Given the description of an element on the screen output the (x, y) to click on. 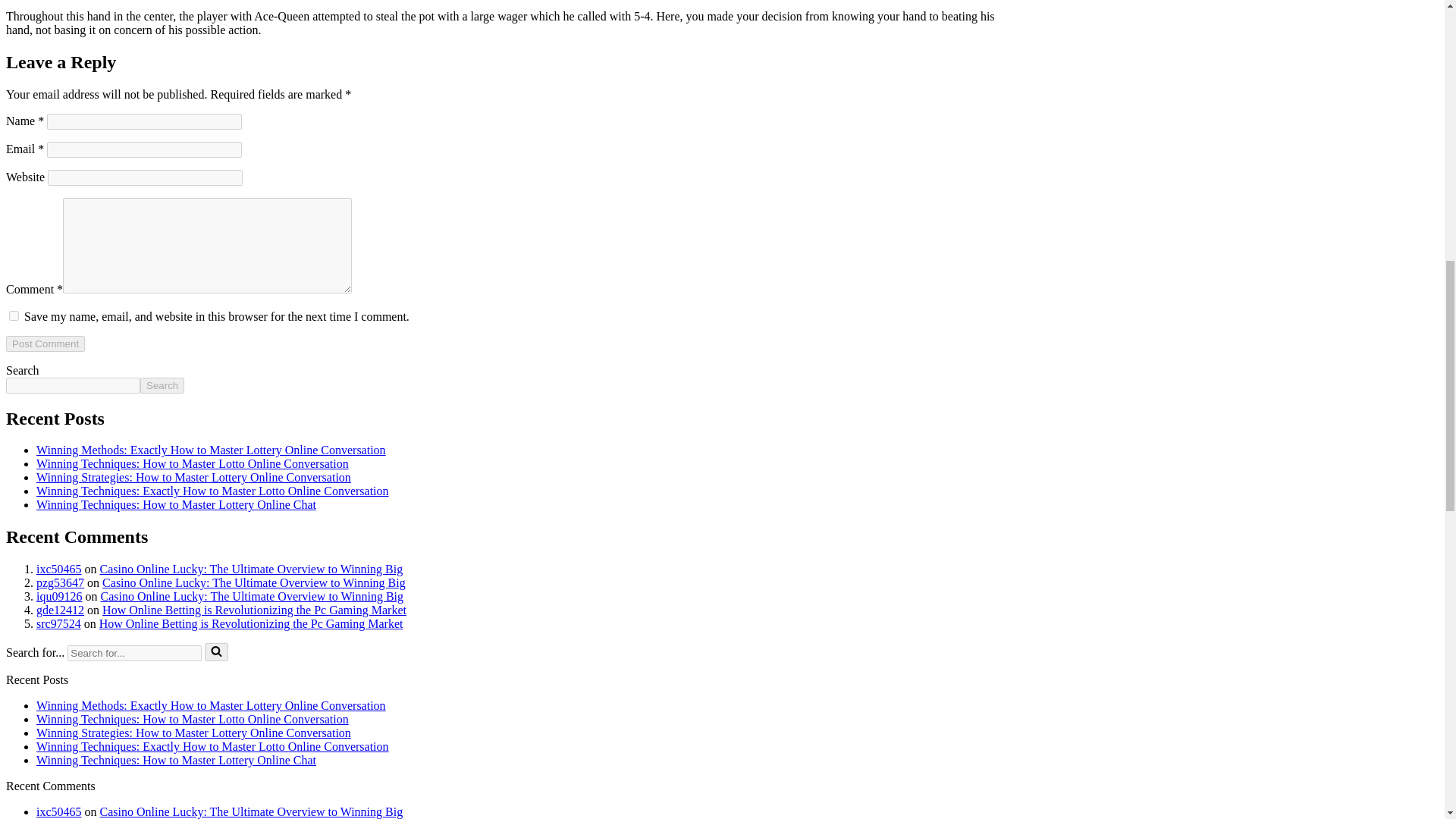
Winning Techniques: How to Master Lottery Online Chat (175, 504)
Post Comment (44, 343)
src97524 (58, 623)
pzg53647 (60, 582)
Winning Techniques: How to Master Lotto Online Conversation (192, 463)
Winning Techniques: How to Master Lotto Online Conversation (192, 718)
Casino Online Lucky: The Ultimate Overview to Winning Big (253, 582)
